Given the description of an element on the screen output the (x, y) to click on. 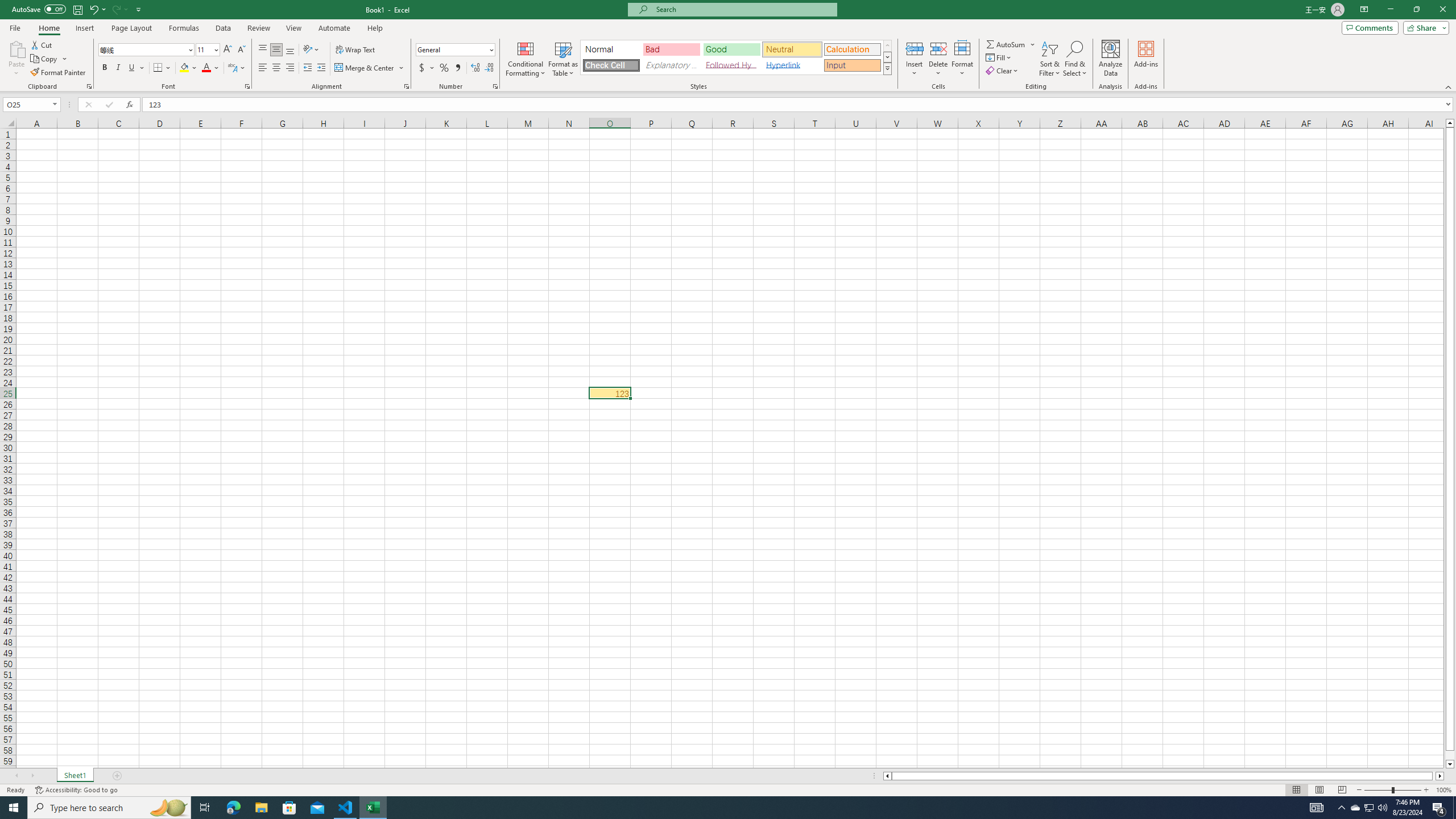
Line up (1449, 122)
Insert (914, 58)
Format Painter (58, 72)
Increase Decimal (474, 67)
AutoSave (38, 9)
Delete (938, 58)
Conditional Formatting (525, 58)
Page Layout (131, 28)
Accounting Number Format (422, 67)
Neutral (791, 49)
Number Format (455, 49)
Sum (1006, 44)
Increase Font Size (227, 49)
Delete Cells... (938, 48)
Font Size (204, 49)
